Given the description of an element on the screen output the (x, y) to click on. 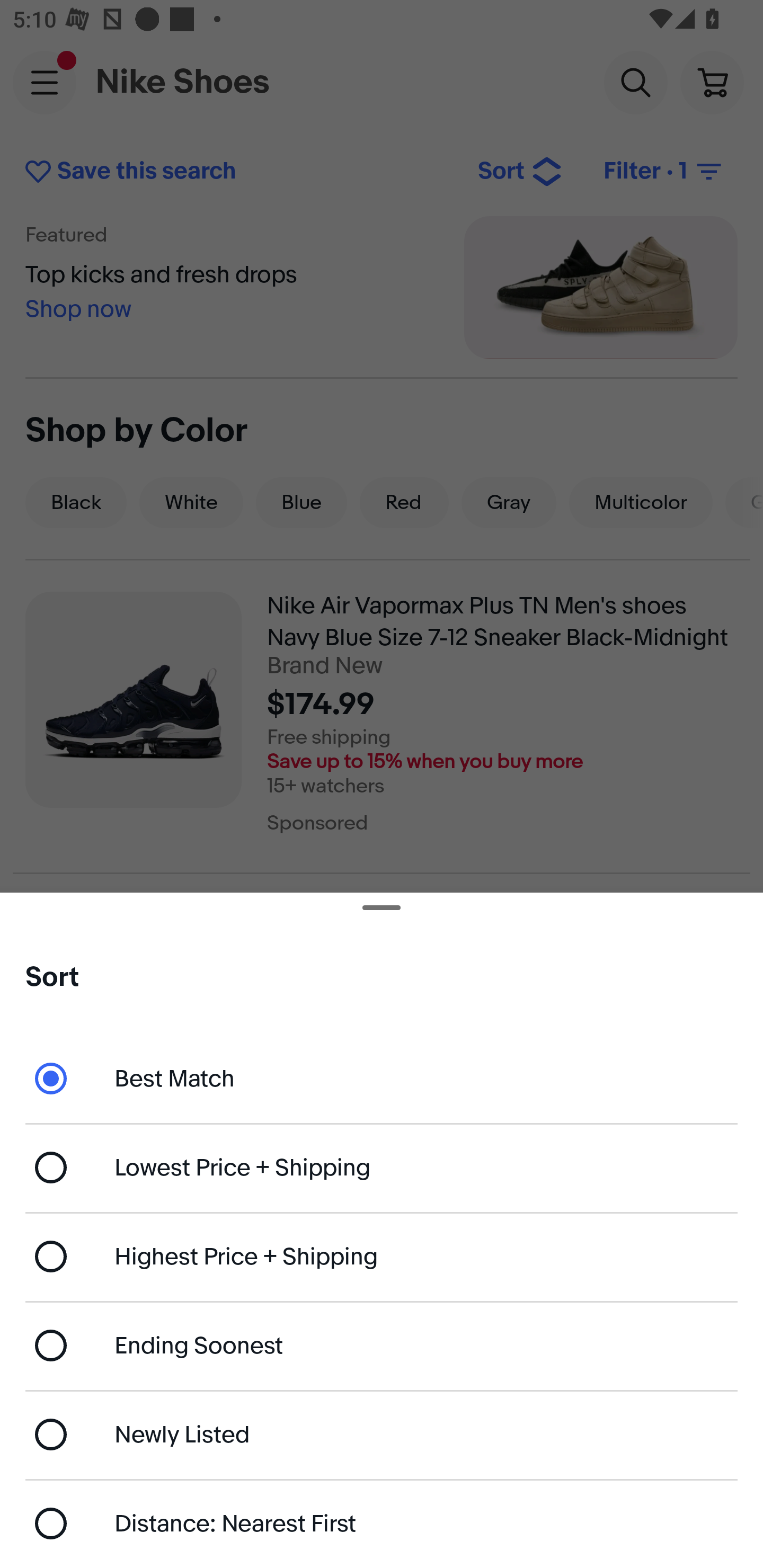
Best Match - currently selected Best Match (381, 1077)
Lowest Price + Shipping (381, 1167)
Highest Price + Shipping (381, 1256)
Ending Soonest (381, 1345)
Newly Listed (381, 1433)
Distance: Nearest First (381, 1523)
